Given the description of an element on the screen output the (x, y) to click on. 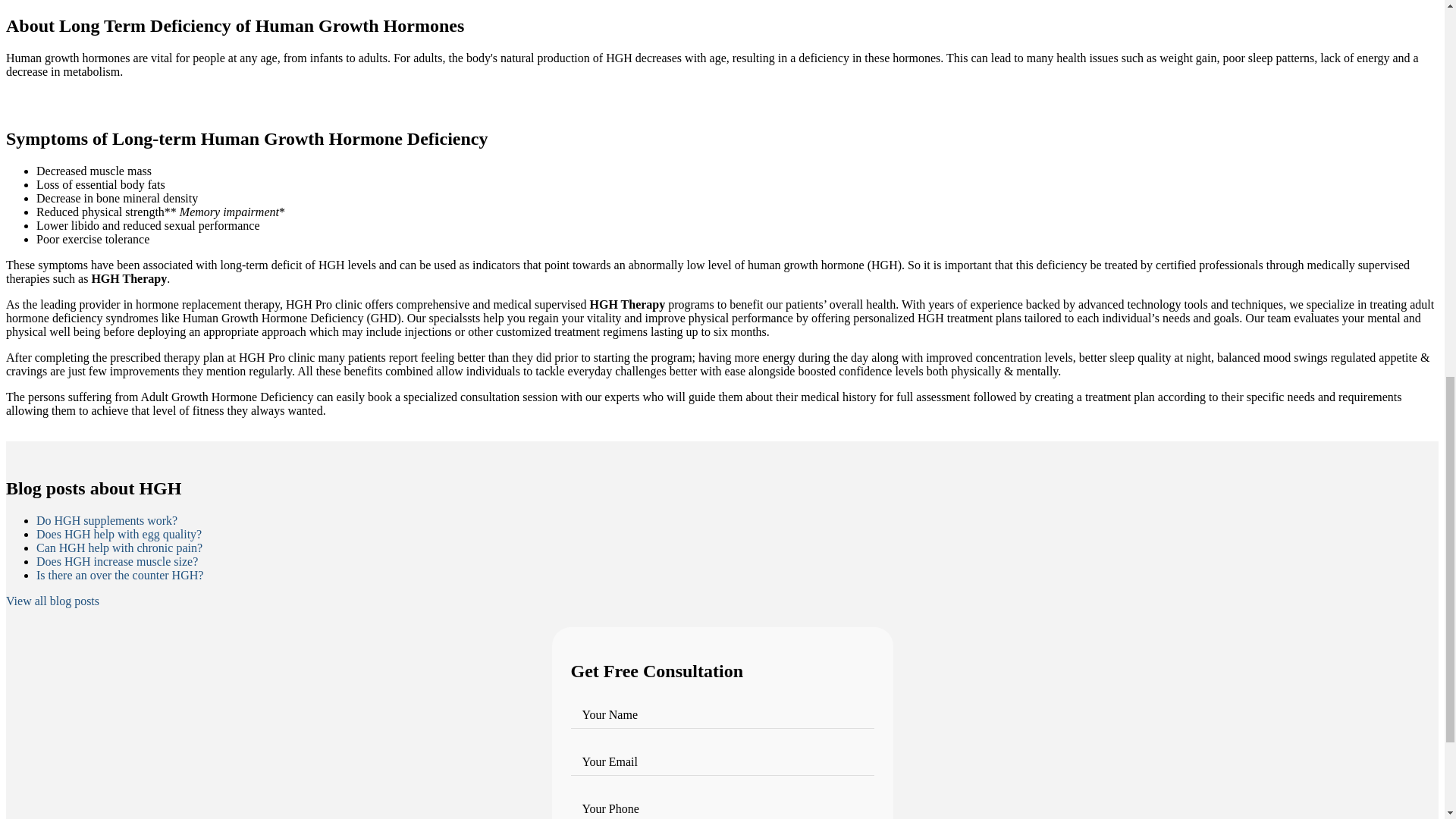
Does HGH increase muscle size? (117, 561)
Does HGH help with egg quality? (119, 533)
Do HGH supplements work? (106, 520)
Can HGH help with chronic pain? (119, 547)
View all blog posts (52, 601)
Is there an over the counter HGH? (119, 574)
